Given the description of an element on the screen output the (x, y) to click on. 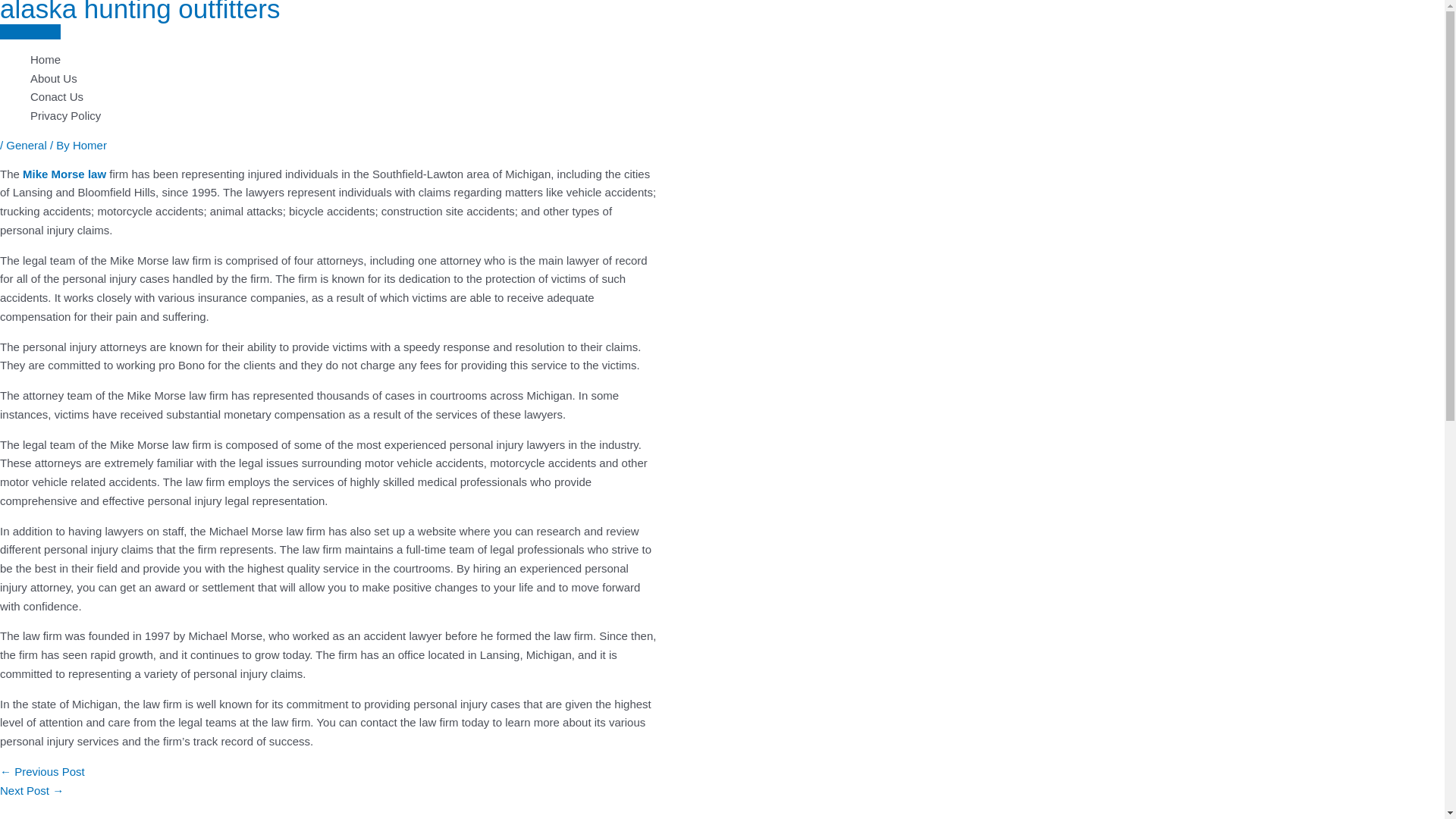
Benefits of Forming Offshore Company Or Business (32, 789)
Conact Us (485, 97)
Mike Morse law (64, 173)
Things To Consider Before Buying a Horse Property For Sale (42, 771)
About Us (485, 78)
alaska hunting outfitters (140, 11)
Homer (89, 144)
View all posts by Homer (89, 144)
General (25, 144)
Home (485, 59)
Main Menu (30, 31)
Privacy Policy (485, 116)
